Given the description of an element on the screen output the (x, y) to click on. 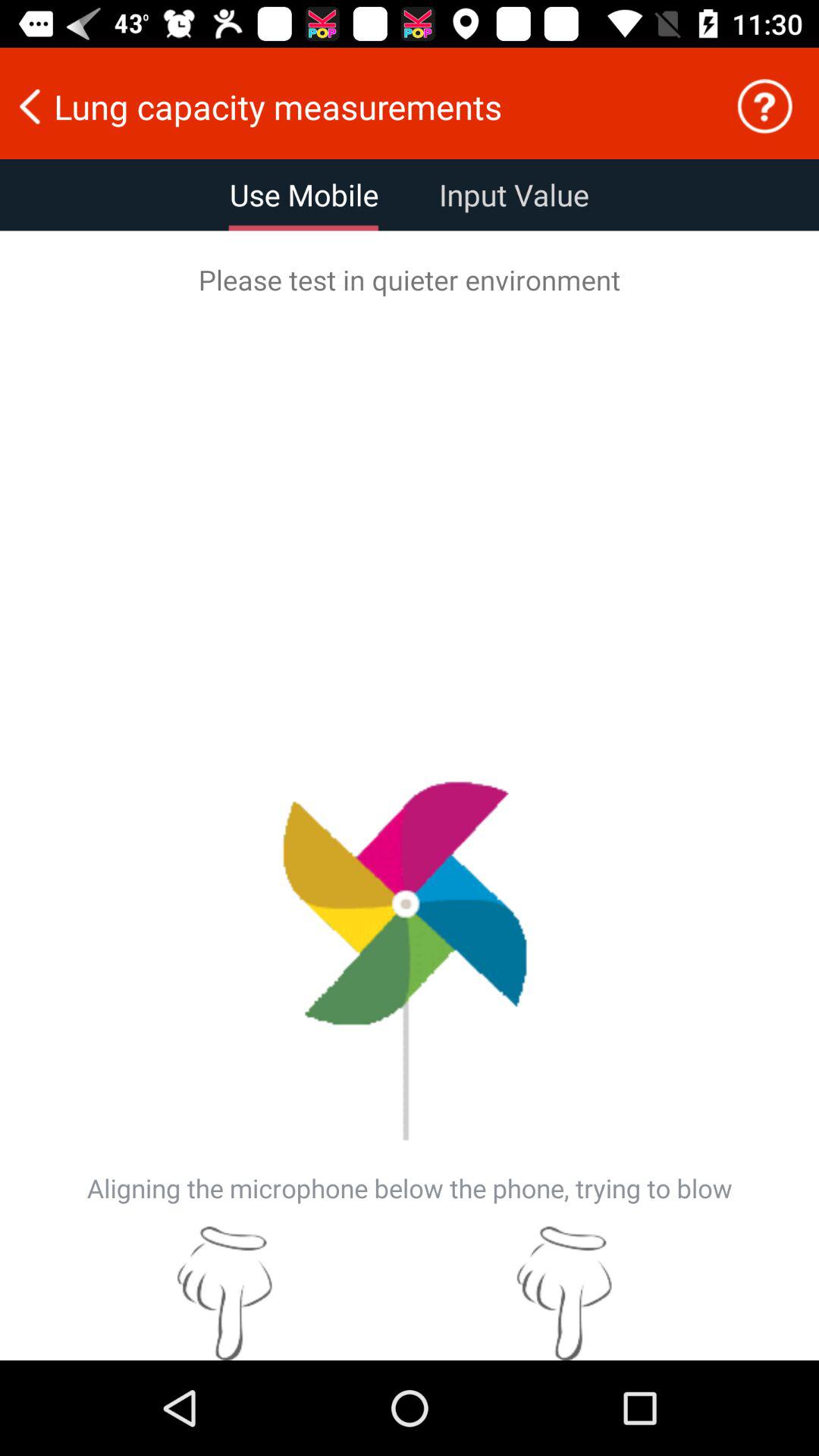
choose the icon to the left of input value (303, 194)
